Given the description of an element on the screen output the (x, y) to click on. 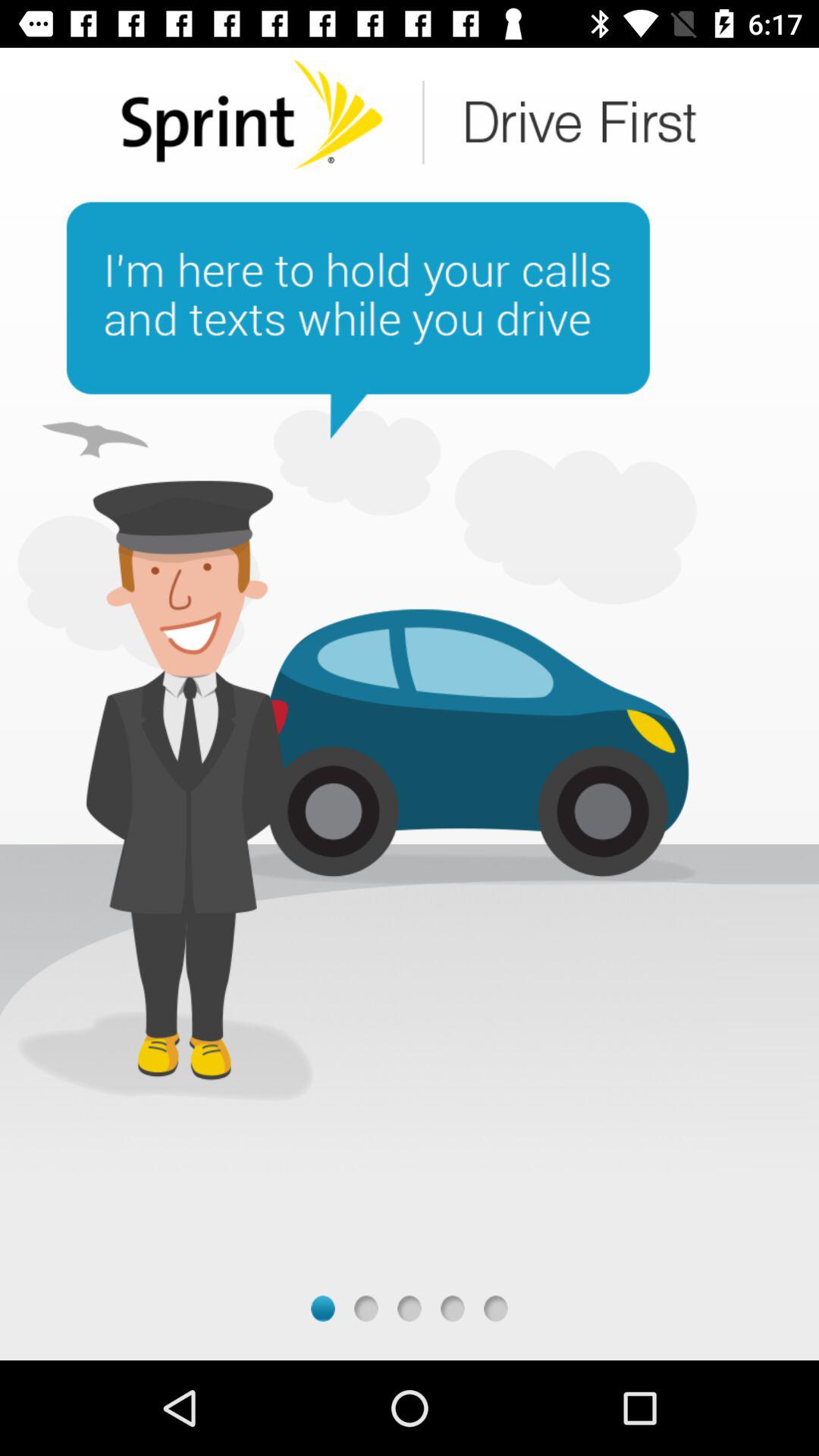
go to third page (409, 1308)
